Given the description of an element on the screen output the (x, y) to click on. 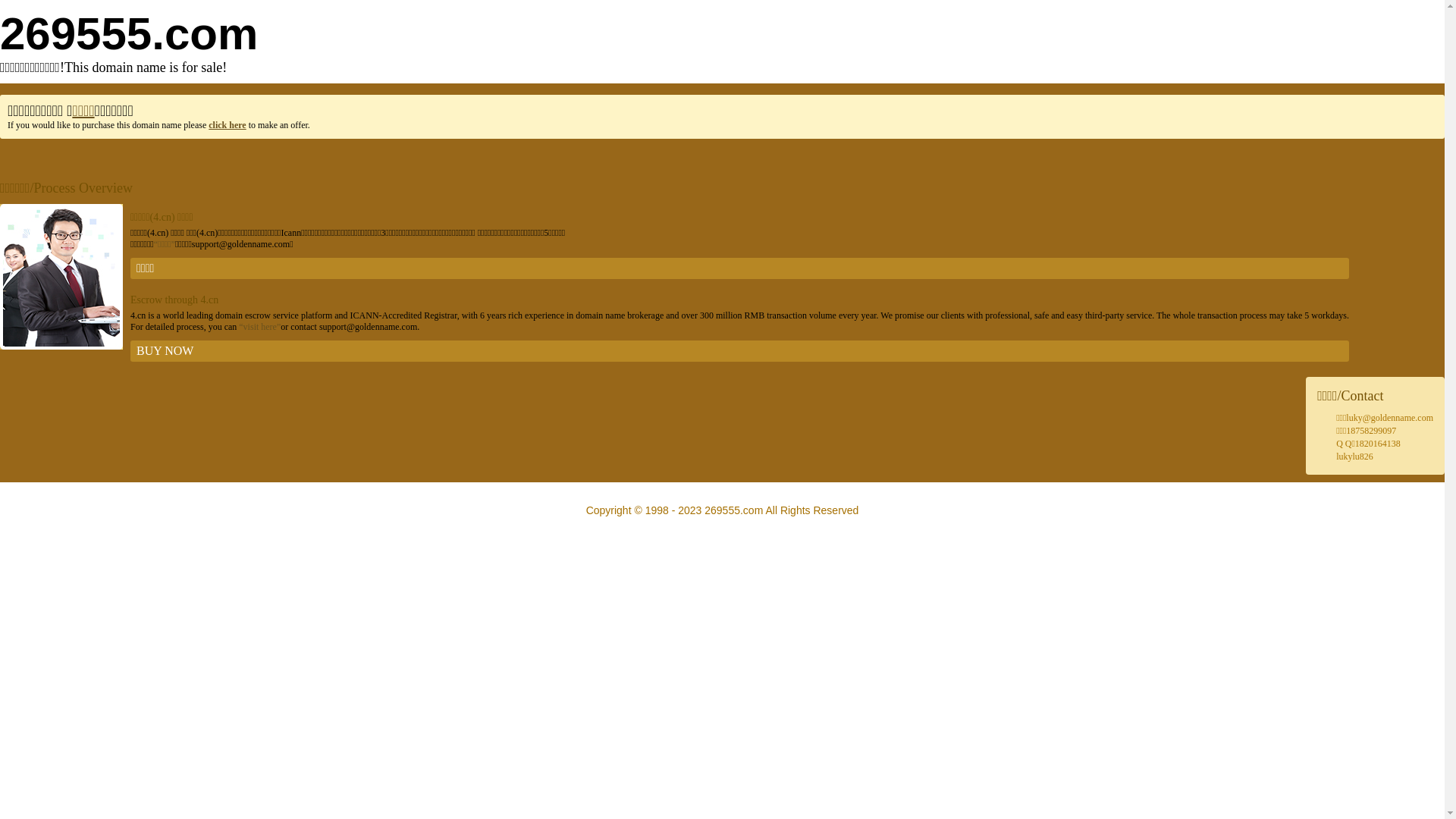
BUY NOW Element type: text (739, 350)
click here Element type: text (226, 124)
